Given the description of an element on the screen output the (x, y) to click on. 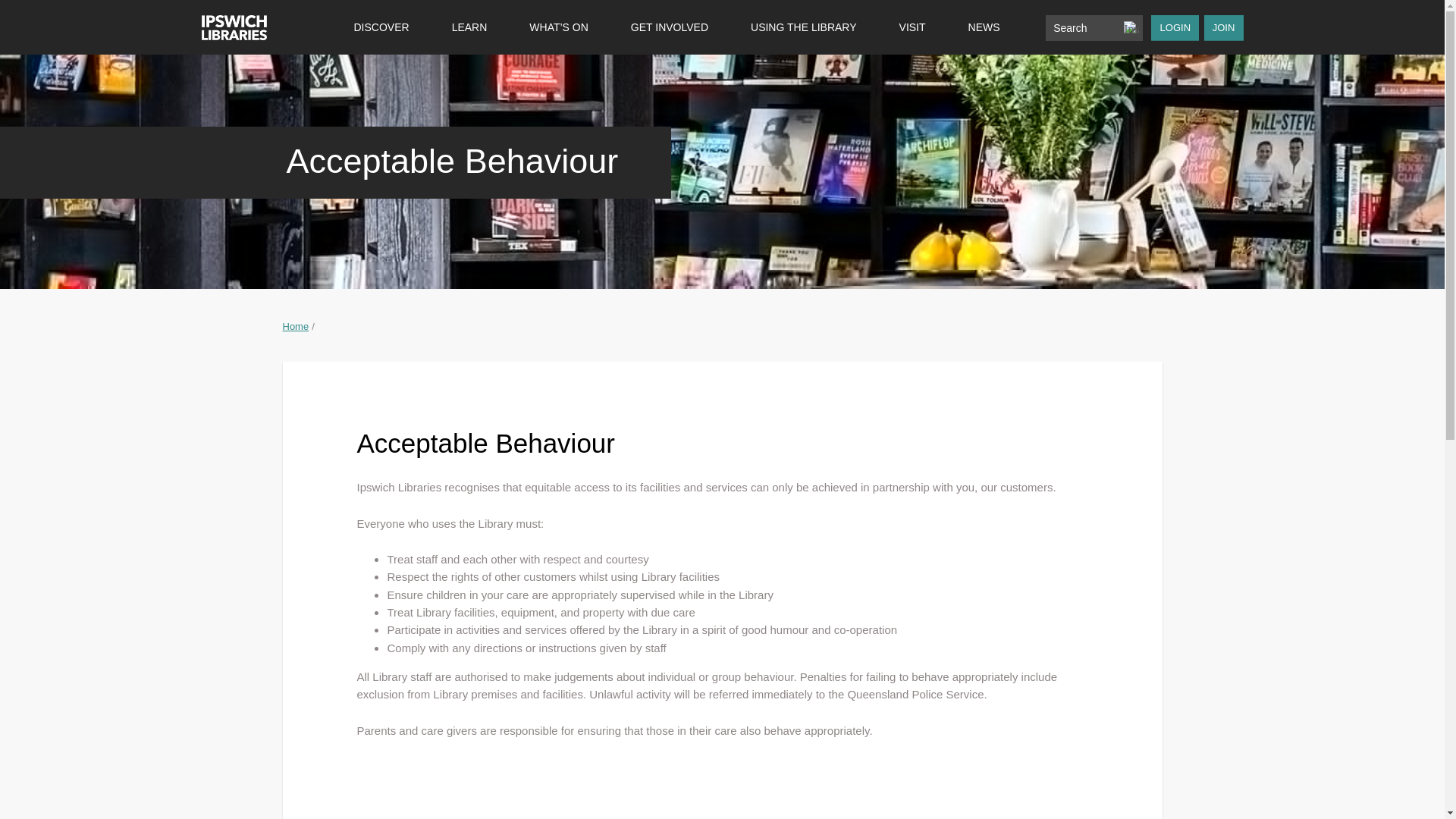
VISIT (912, 27)
LEARN (469, 27)
Go to Ipswich Libraries. (295, 325)
GET INVOLVED (668, 27)
USING THE LIBRARY (804, 27)
DISCOVER (381, 27)
